Given the description of an element on the screen output the (x, y) to click on. 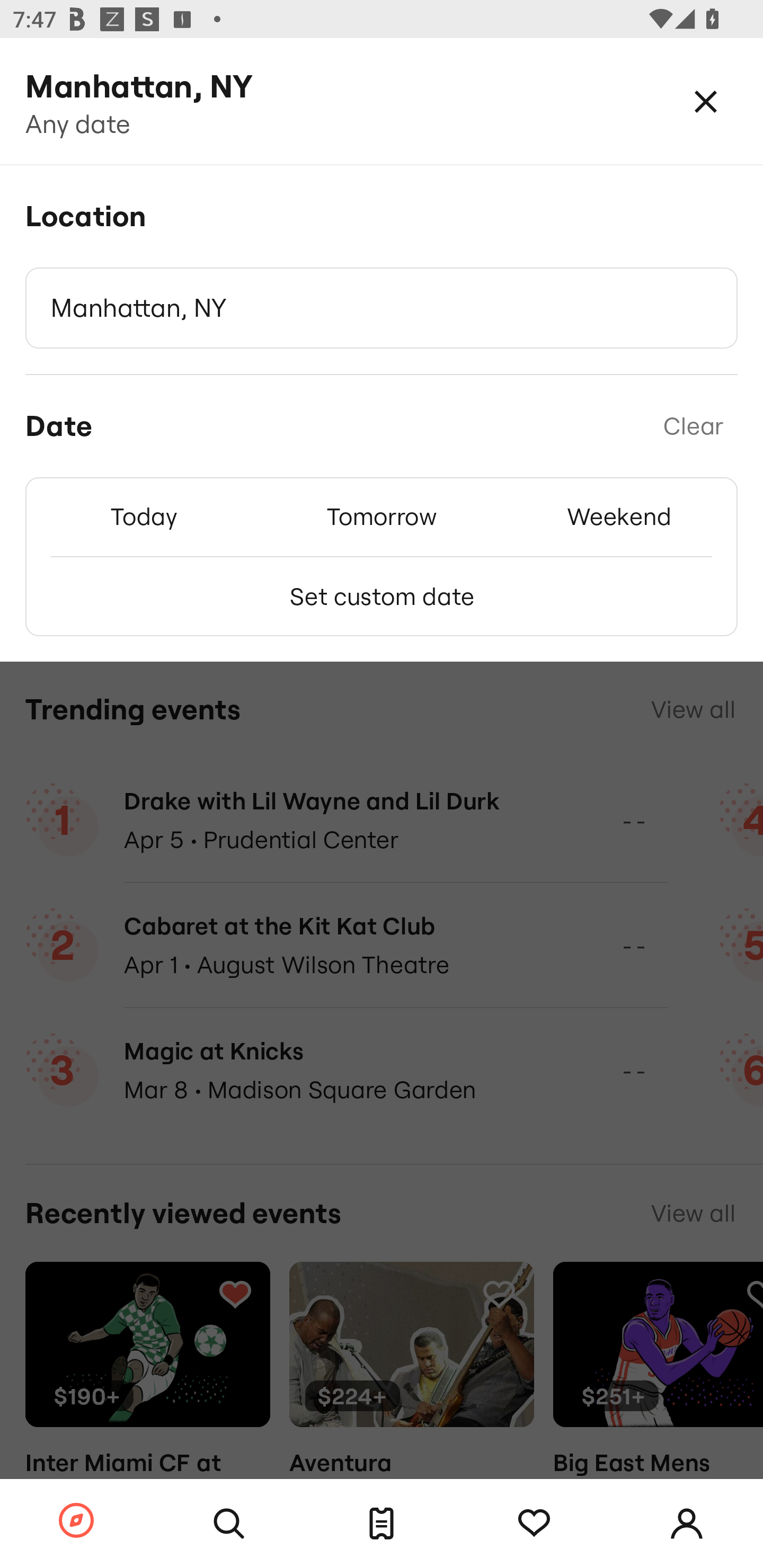
Close (705, 100)
Manhattan, NY (381, 308)
Clear (693, 426)
Today (143, 516)
Tomorrow (381, 516)
Weekend (618, 516)
Set custom date (381, 596)
Browse (76, 1521)
Search (228, 1523)
Tickets (381, 1523)
Tracking (533, 1523)
Account (686, 1523)
